Given the description of an element on the screen output the (x, y) to click on. 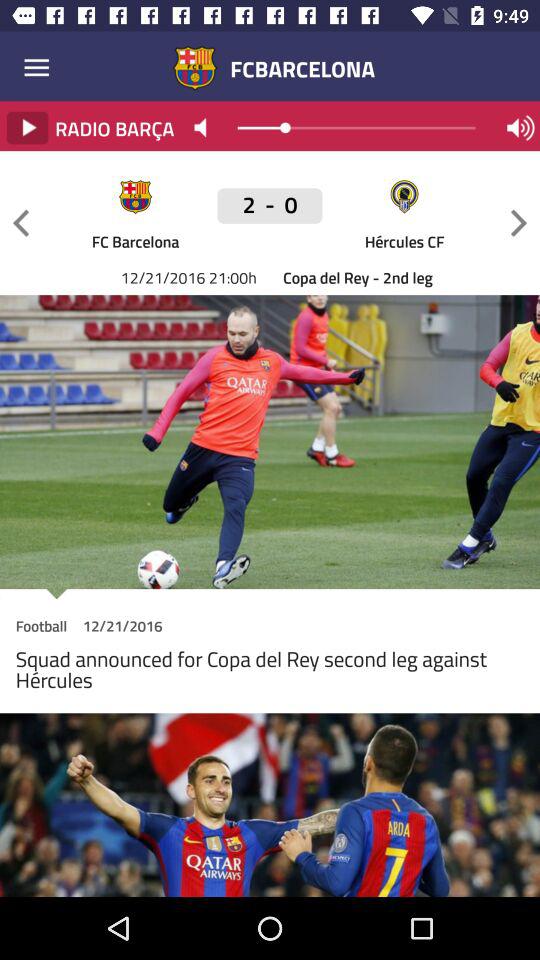
launch the icon to the right of the 12 21 2016 item (269, 216)
